Given the description of an element on the screen output the (x, y) to click on. 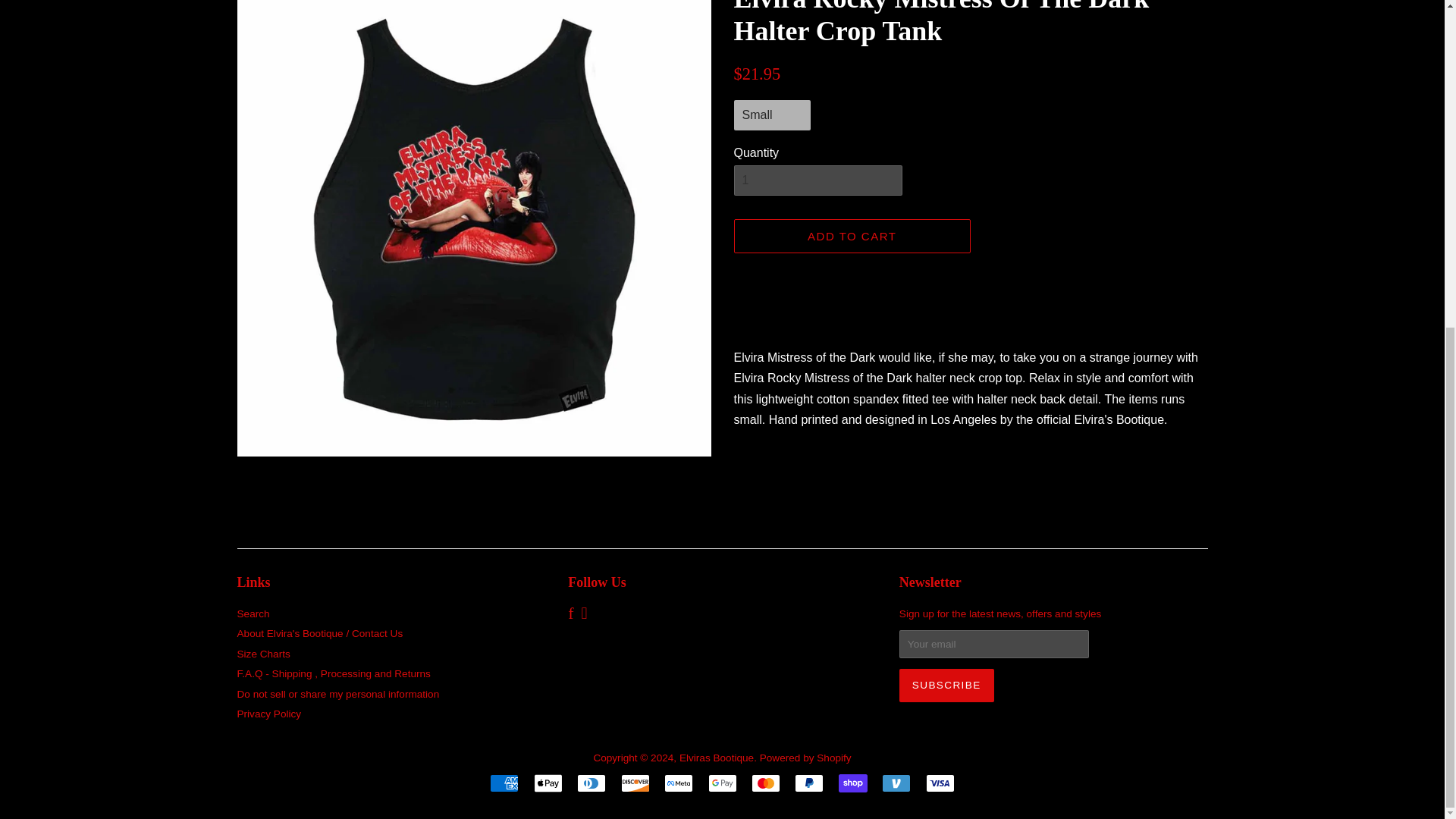
Diners Club (590, 782)
Discover (635, 782)
Visa (940, 782)
Venmo (896, 782)
Shop Pay (852, 782)
Apple Pay (548, 782)
Google Pay (721, 782)
PayPal (809, 782)
Subscribe (946, 685)
Mastercard (765, 782)
Meta Pay (678, 782)
American Express (503, 782)
1 (817, 180)
